Given the description of an element on the screen output the (x, y) to click on. 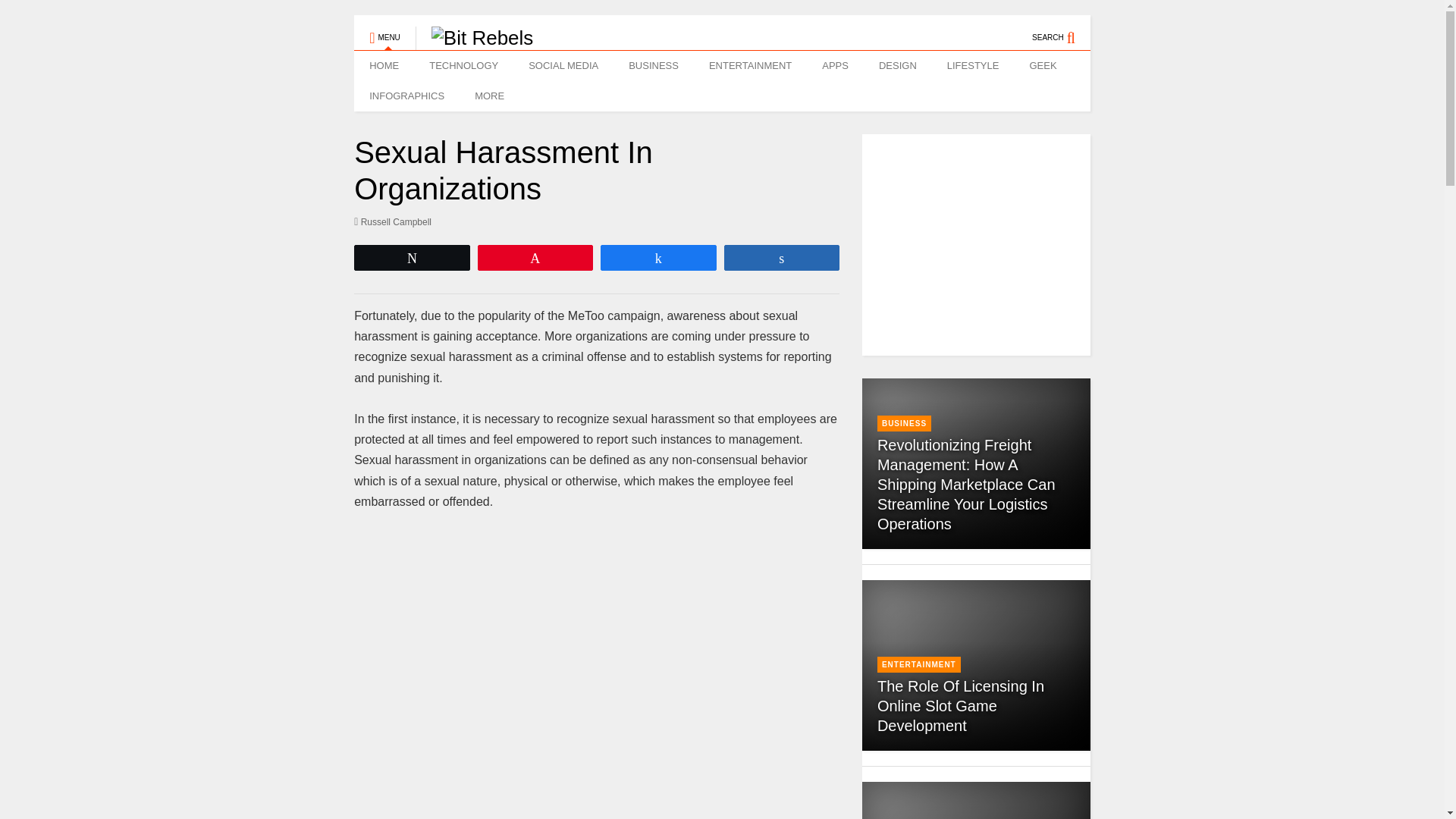
BUSINESS (653, 65)
INFOGRAPHICS (406, 96)
MORE (493, 96)
LIFESTYLE (972, 65)
DESIGN (897, 65)
SOCIAL MEDIA (562, 65)
Bit Rebels (474, 37)
GEEK (1042, 65)
SEARCH (1061, 30)
